Given the description of an element on the screen output the (x, y) to click on. 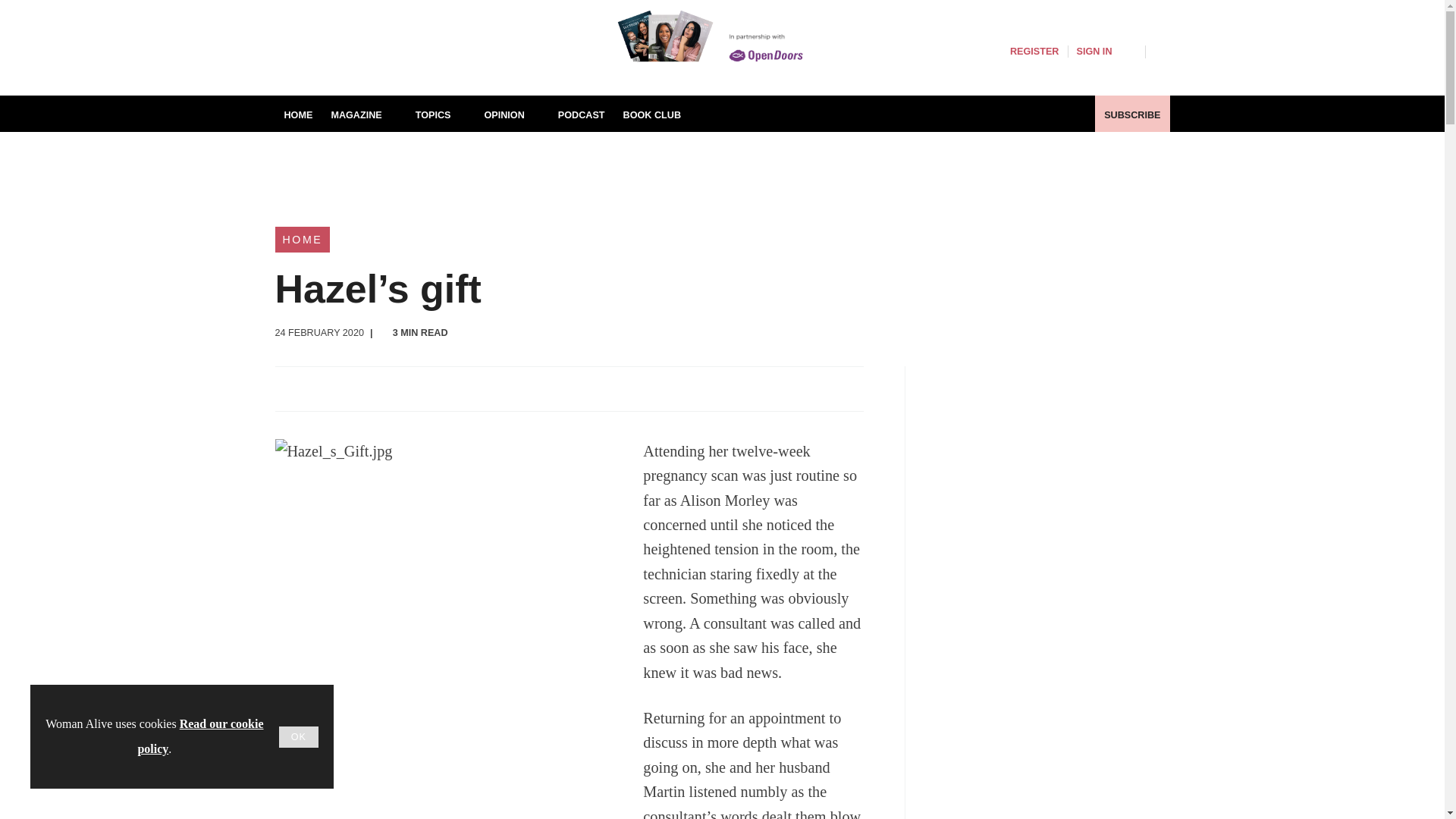
SIGN IN (1106, 51)
Share this on Linked in (352, 388)
REGISTER (1034, 51)
SEARCH (1161, 50)
Site name (418, 66)
Share this on Facebook (288, 388)
Share this on Twitter (320, 388)
Email this article (386, 388)
Read our cookie policy (199, 735)
OK (298, 736)
